Given the description of an element on the screen output the (x, y) to click on. 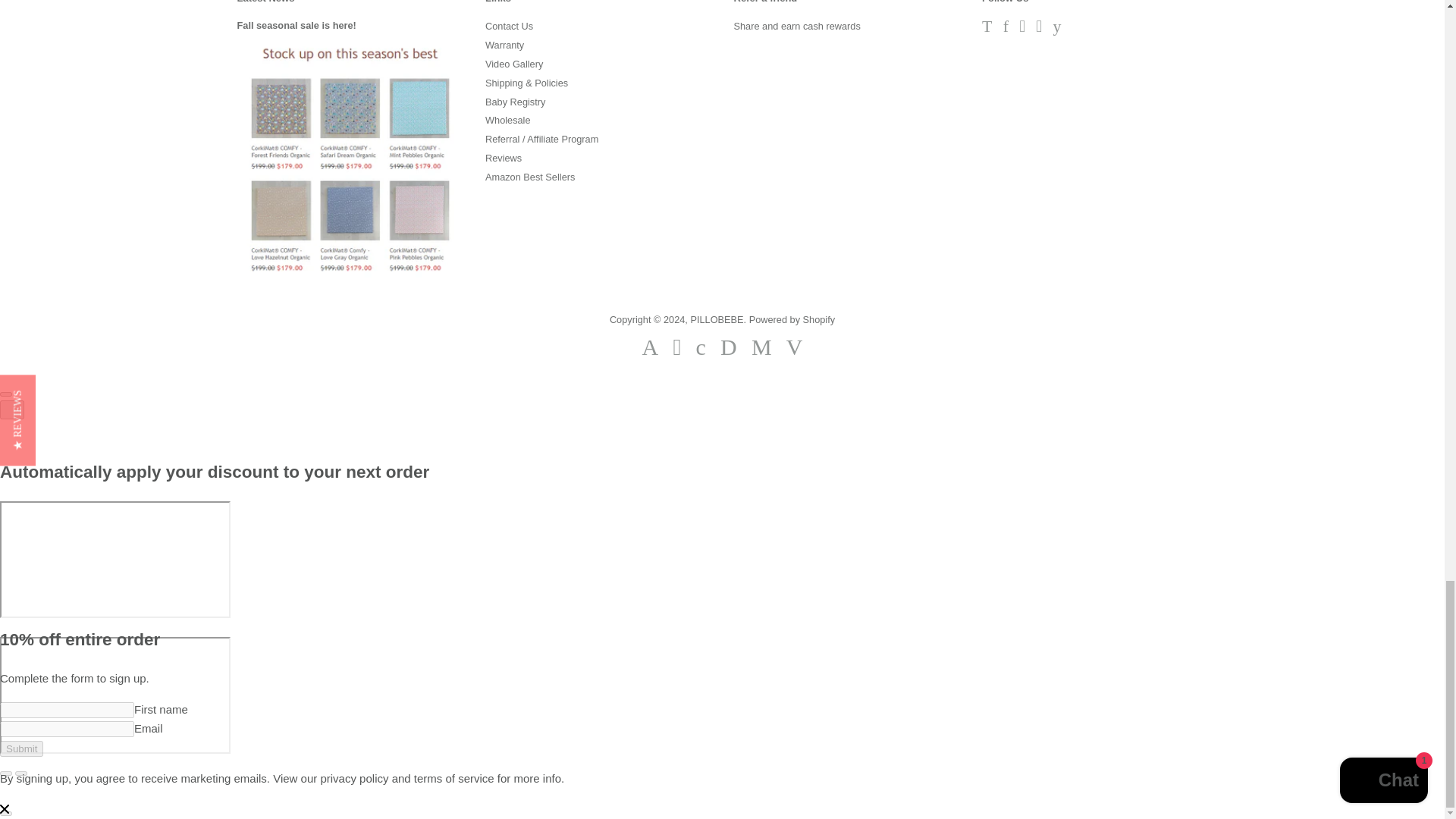
PILLOBEBE on Twitter (986, 28)
PILLOBEBE on Instagram (1038, 28)
PILLOBEBE on Facebook (1006, 28)
PILLOBEBE on YouTube (1056, 28)
PILLOBEBE on Google Plus (1022, 28)
